Given the description of an element on the screen output the (x, y) to click on. 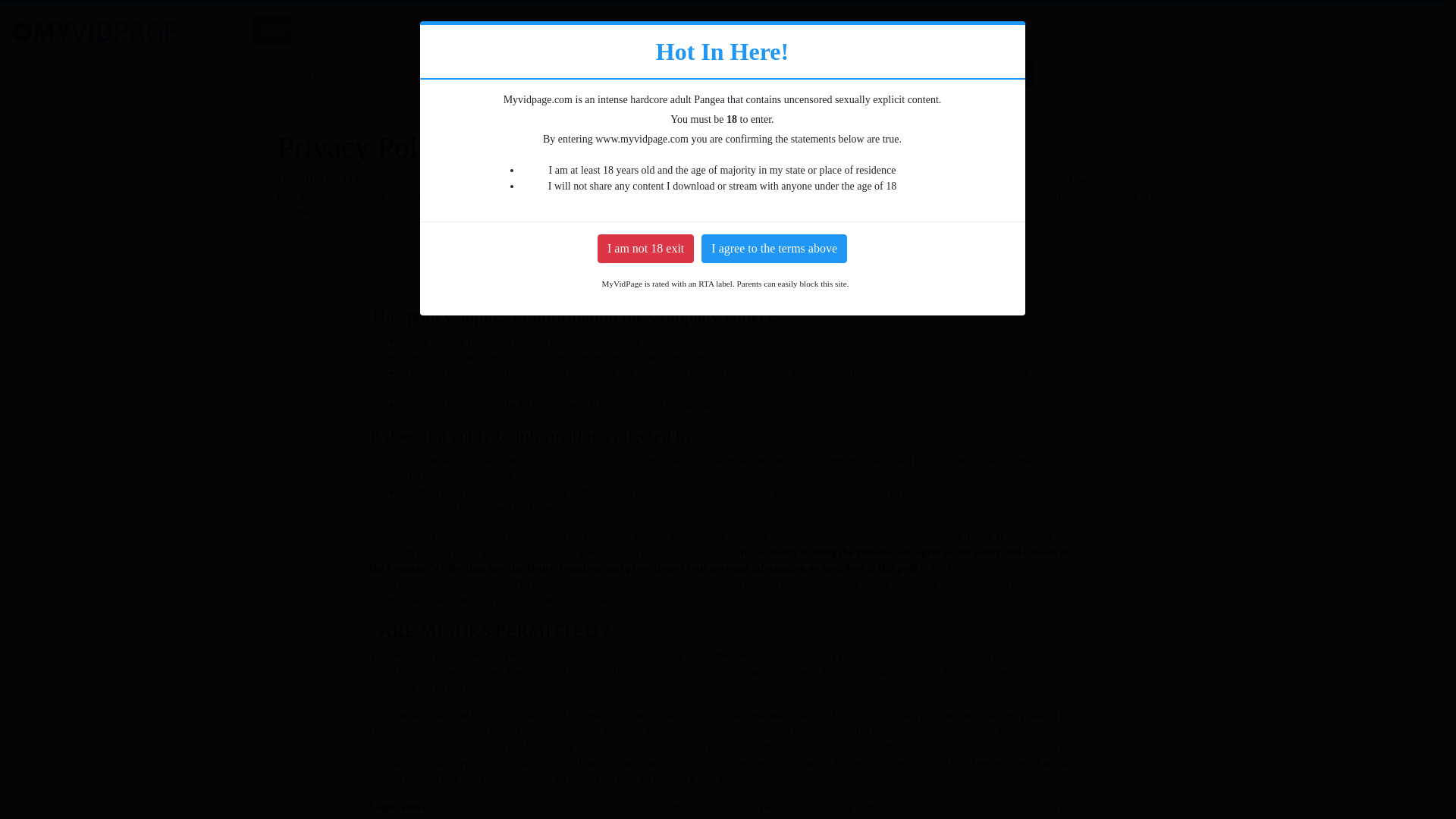
WWW.MYVIDPAGE.COM (643, 195)
MVP Trans (475, 73)
Cart :0 (1238, 26)
I agree to the terms above (774, 248)
All (274, 30)
I am not 18 exit (645, 248)
MEMBER LOGIN (984, 73)
MVP Boys (553, 73)
Producers (400, 73)
MVP Girls (327, 73)
JOIN FREE! (1106, 73)
Vids (752, 31)
MVP Stars (809, 31)
